Given the description of an element on the screen output the (x, y) to click on. 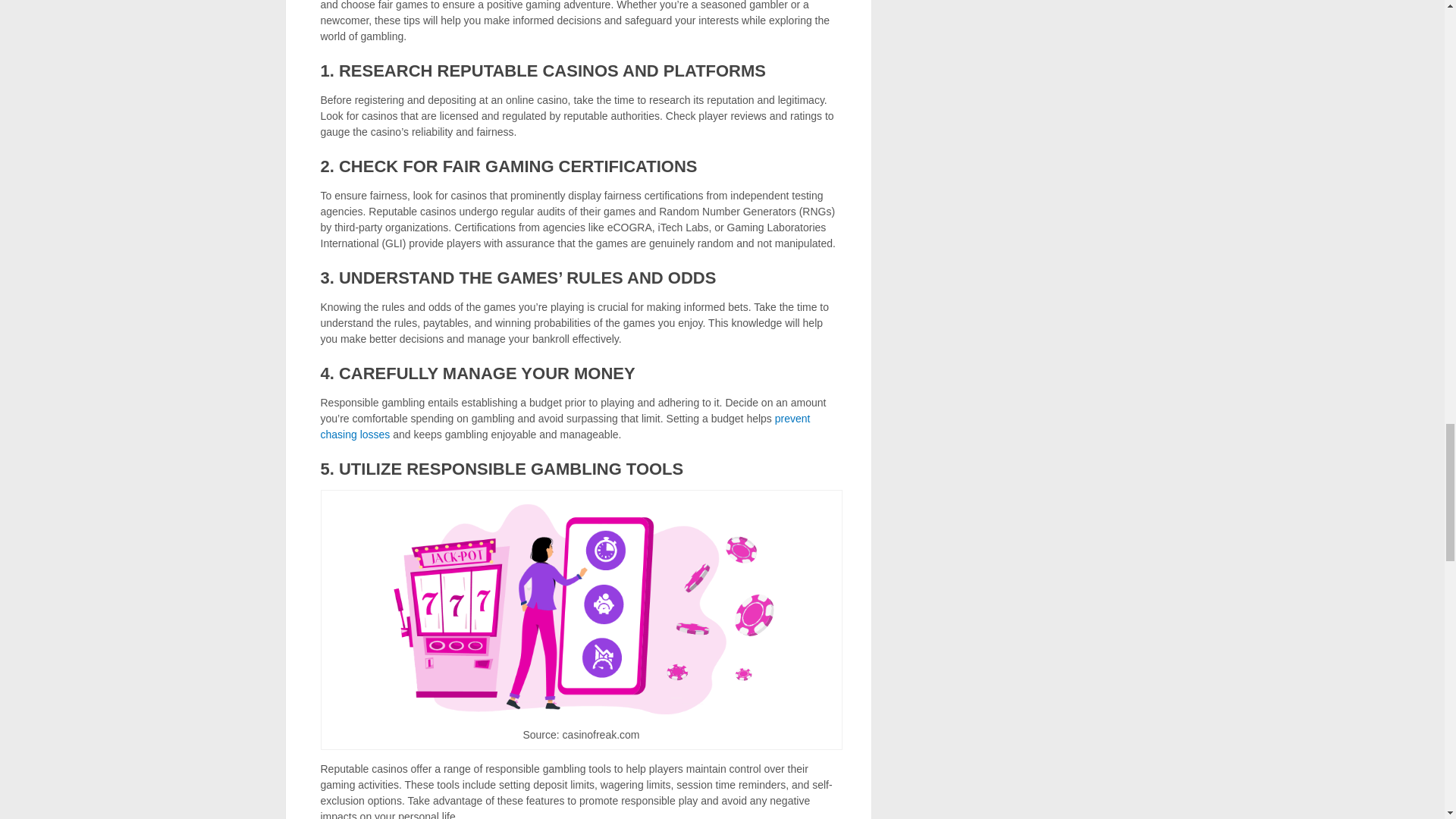
prevent chasing losses (564, 426)
